Given the description of an element on the screen output the (x, y) to click on. 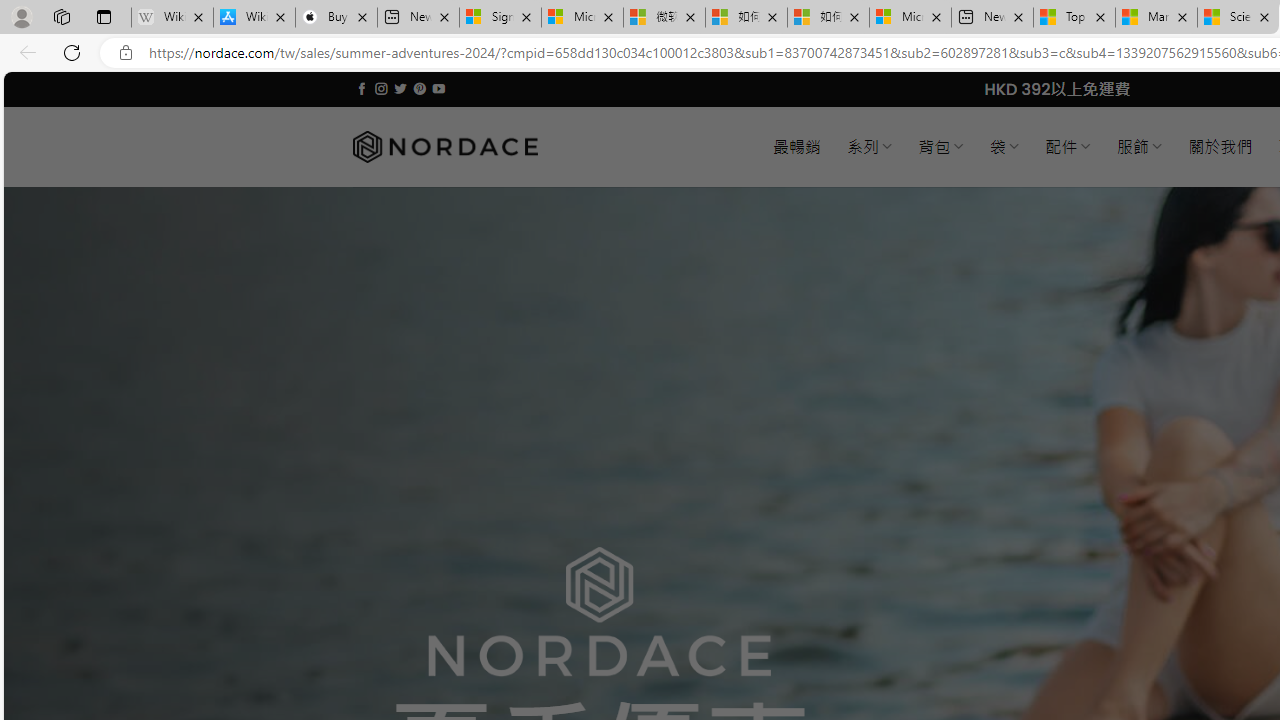
Follow on Instagram (381, 88)
Top Stories - MSN (1074, 17)
Microsoft account | Account Checkup (910, 17)
